Given the description of an element on the screen output the (x, y) to click on. 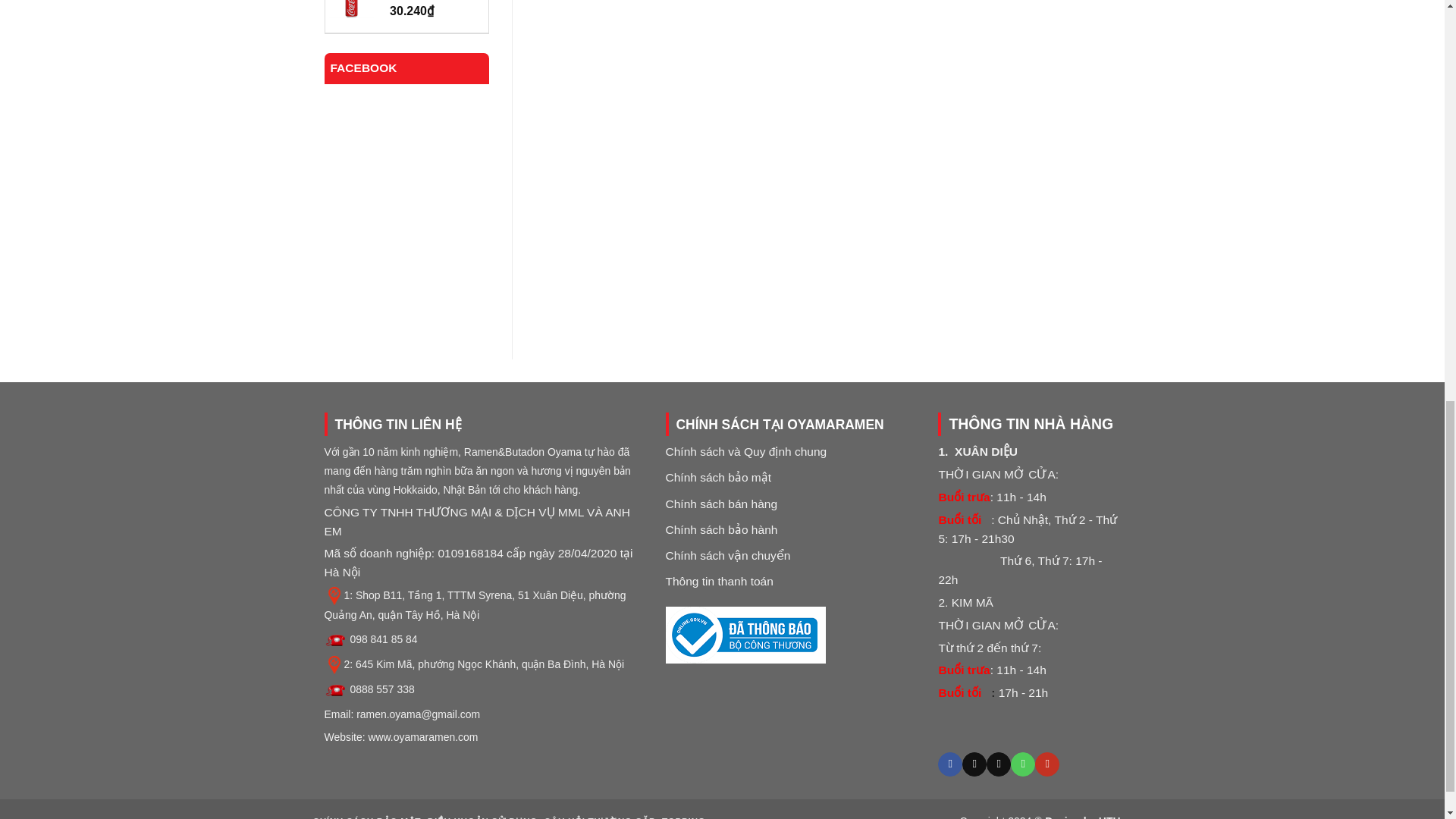
Coca Lite (430, 1)
